Given the description of an element on the screen output the (x, y) to click on. 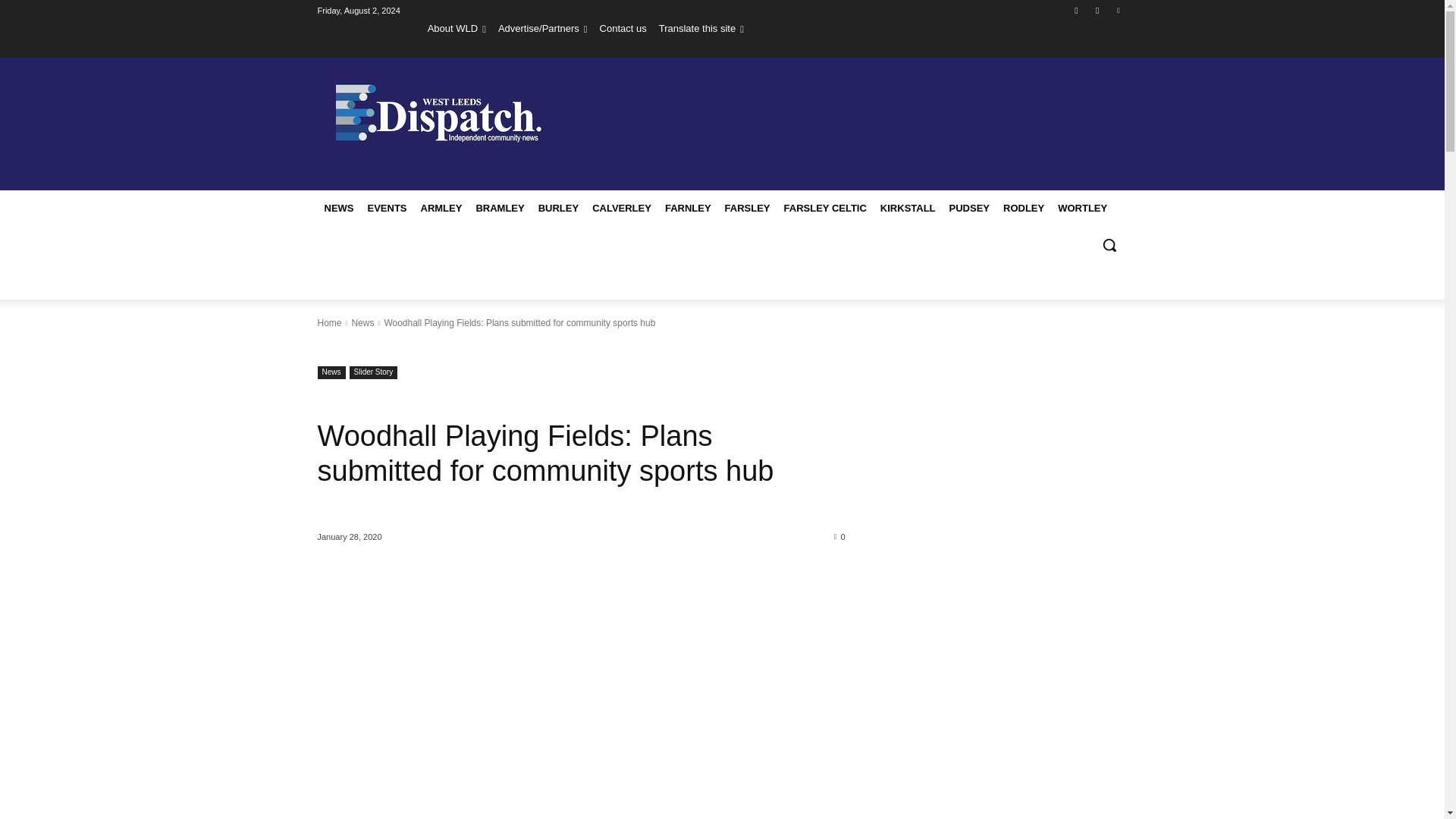
About WLD (457, 28)
Translate this site (701, 28)
Contact us (622, 28)
